Given the description of an element on the screen output the (x, y) to click on. 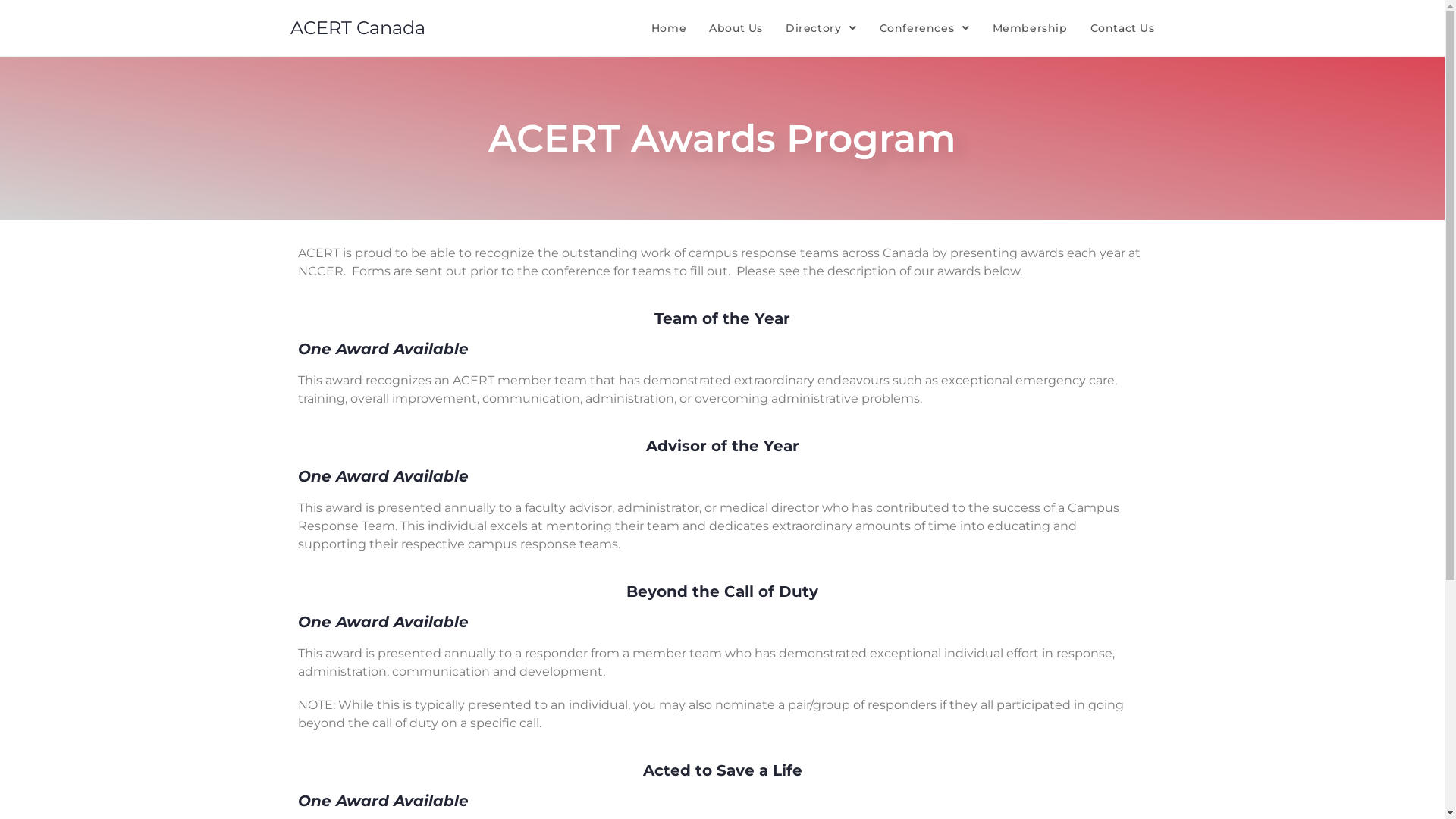
Conferences Element type: text (924, 28)
Directory Element type: text (821, 28)
Home Element type: text (668, 28)
About Us Element type: text (735, 28)
Membership Element type: text (1030, 28)
ACERT Canada Element type: text (356, 27)
Contact Us Element type: text (1121, 28)
